Given the description of an element on the screen output the (x, y) to click on. 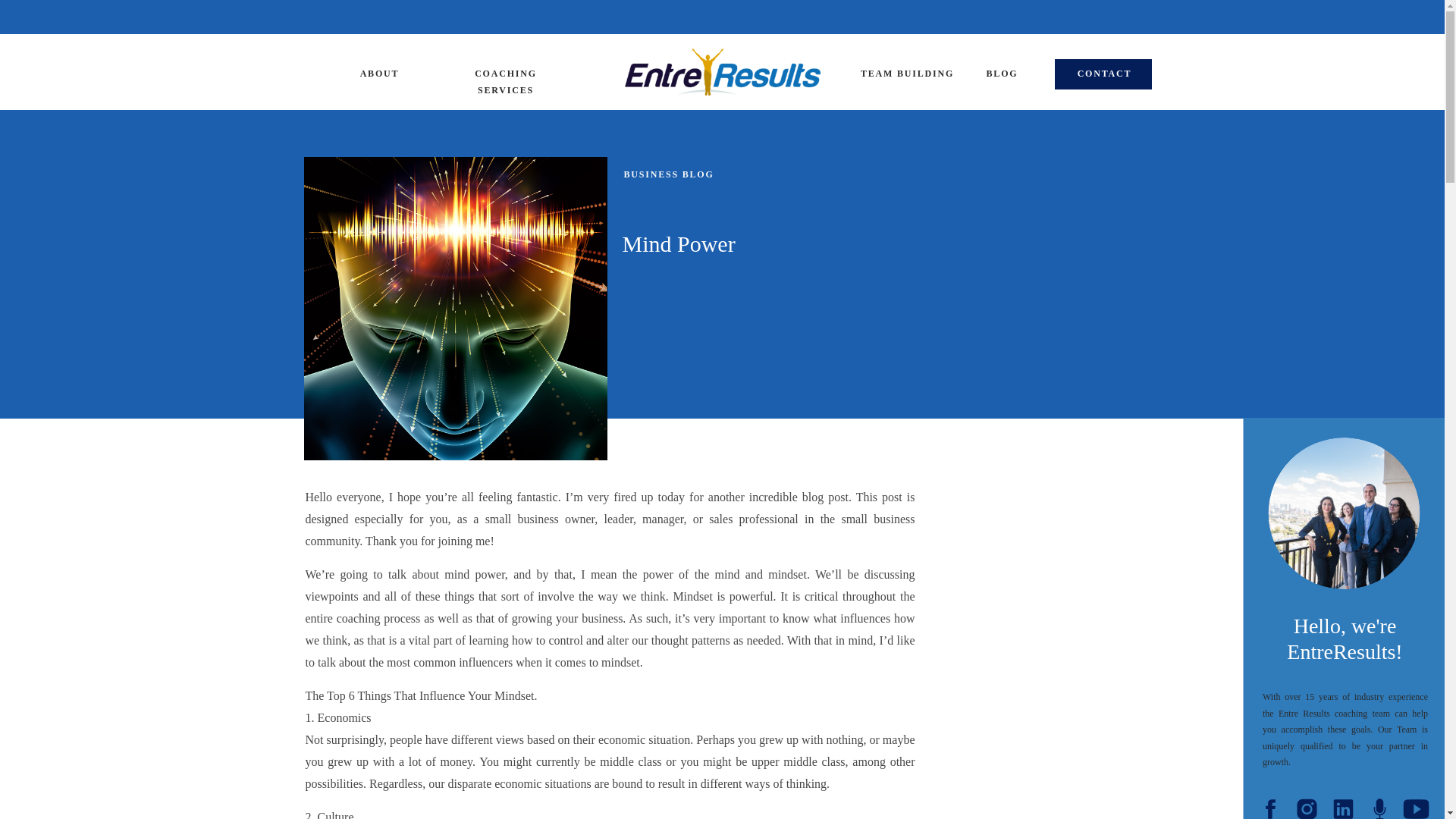
COACHING SERVICES (504, 72)
TEAM BUILDING (907, 72)
Mind Power (454, 308)
BLOG (1001, 72)
BUSINESS BLOG (668, 173)
CONTACT (1103, 72)
ABOUT (379, 72)
